Given the description of an element on the screen output the (x, y) to click on. 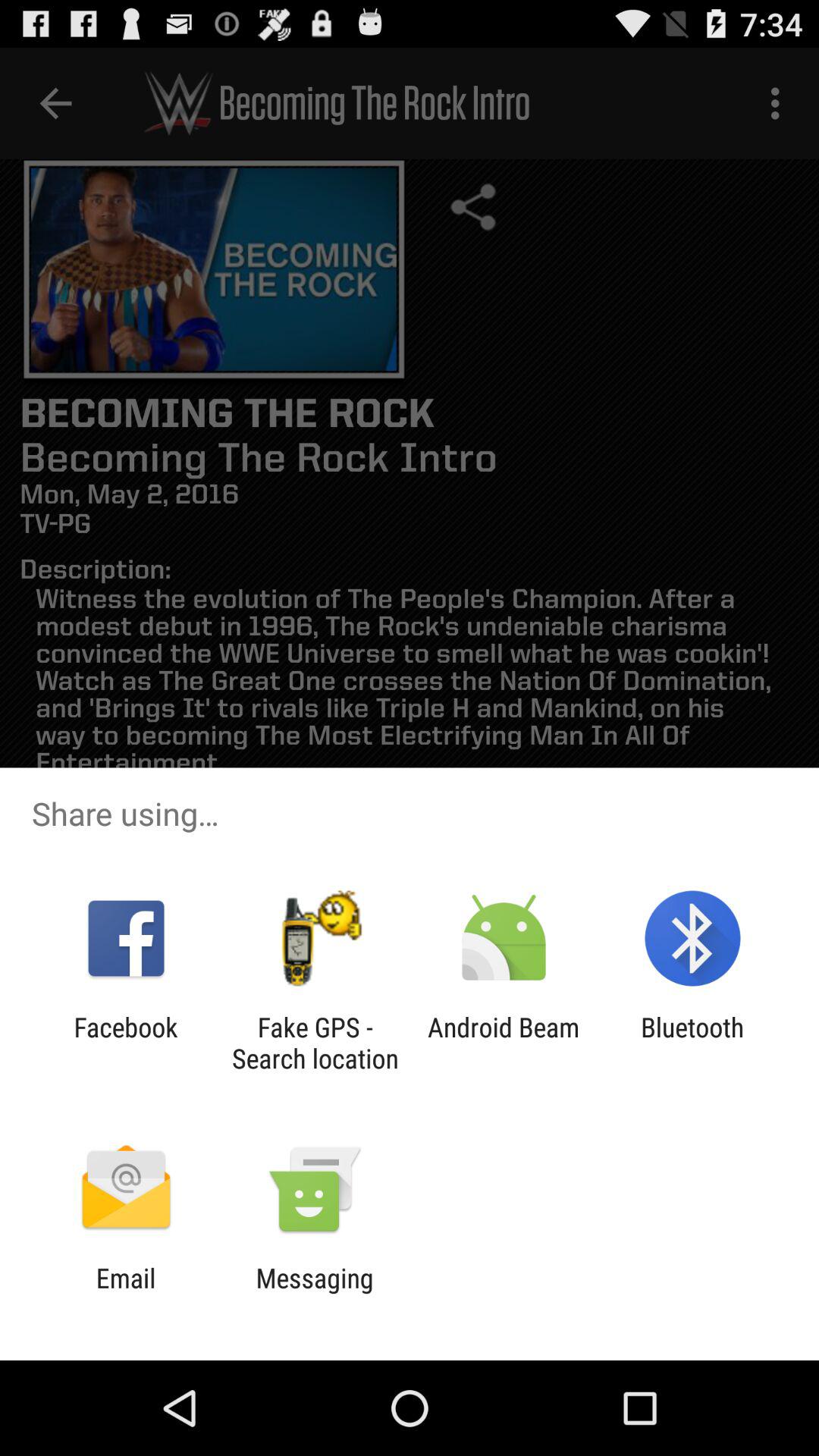
scroll to fake gps search app (314, 1042)
